Given the description of an element on the screen output the (x, y) to click on. 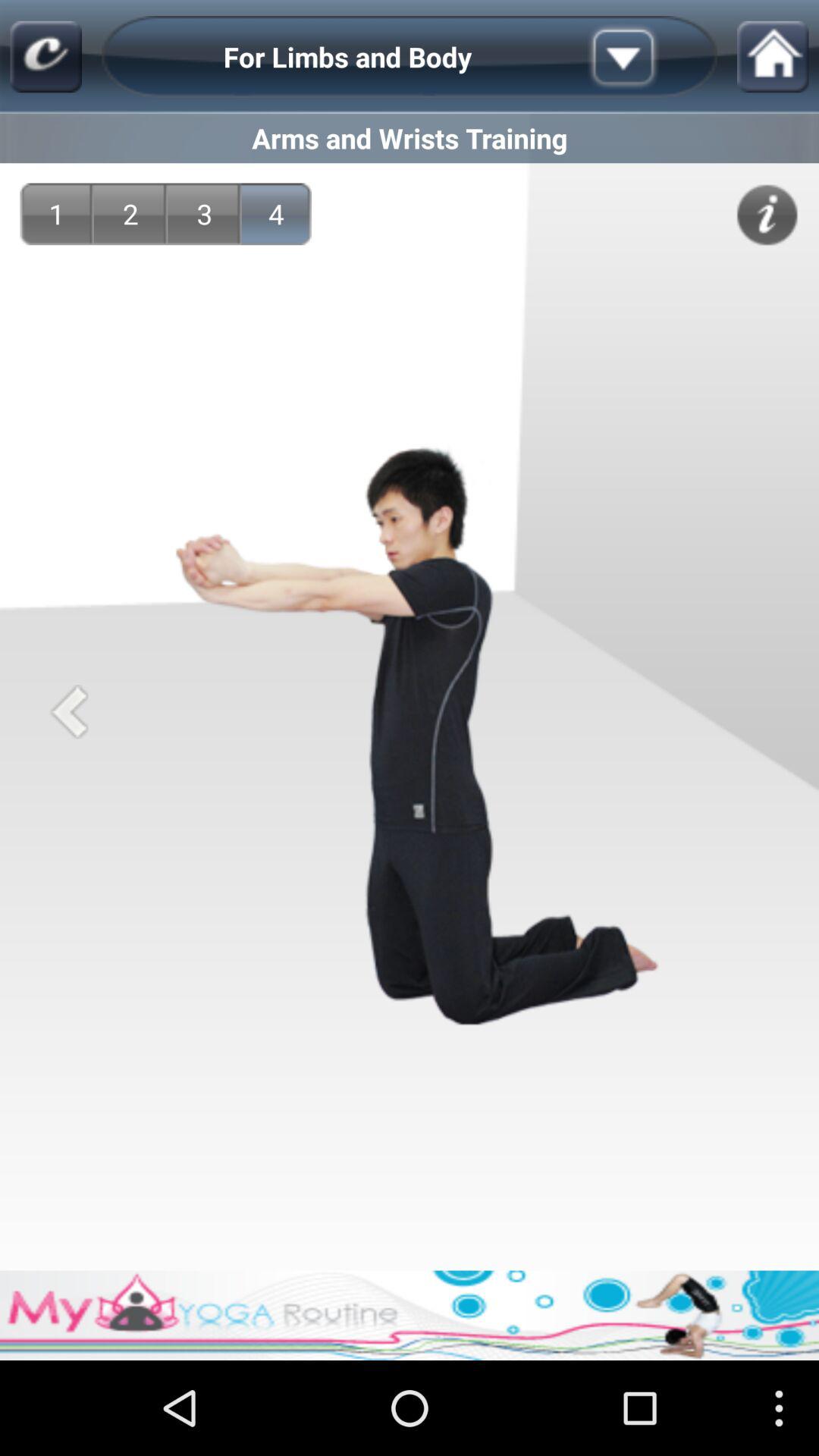
jump to the 3 app (204, 214)
